Given the description of an element on the screen output the (x, y) to click on. 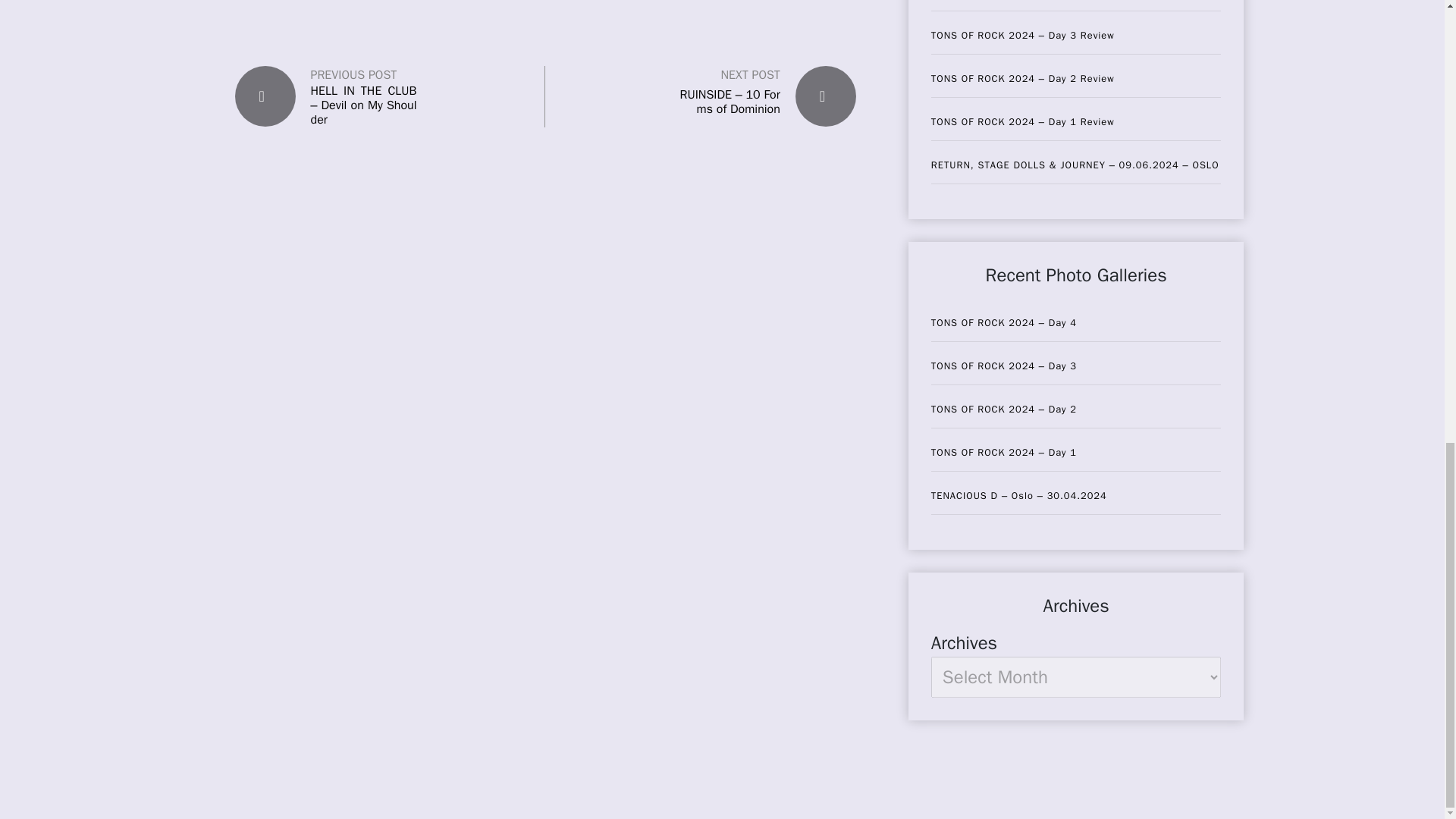
PREVIOUS POST (354, 75)
NEXT POST (749, 74)
